Given the description of an element on the screen output the (x, y) to click on. 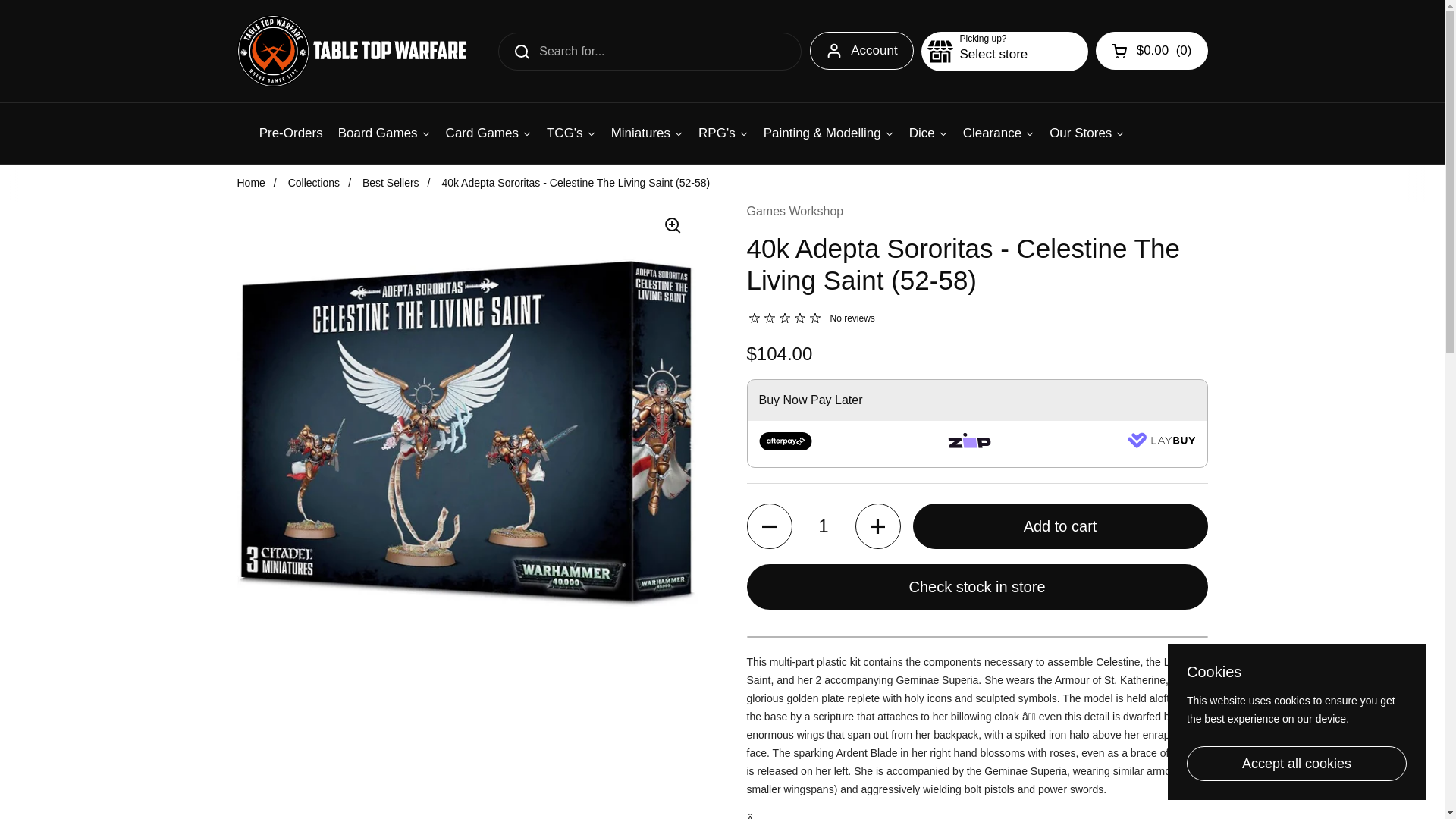
Home (249, 182)
Card Games (488, 133)
Board Games (384, 133)
Card Games (488, 133)
Best Sellers (390, 182)
Our Stores (1087, 133)
Miniatures (647, 133)
Add to cart (1060, 525)
Pre-Orders (290, 133)
TCG's (571, 133)
Miniatures (647, 133)
RPG's (722, 133)
Check stock in store (976, 586)
Dice (928, 133)
Account (860, 50)
